Given the description of an element on the screen output the (x, y) to click on. 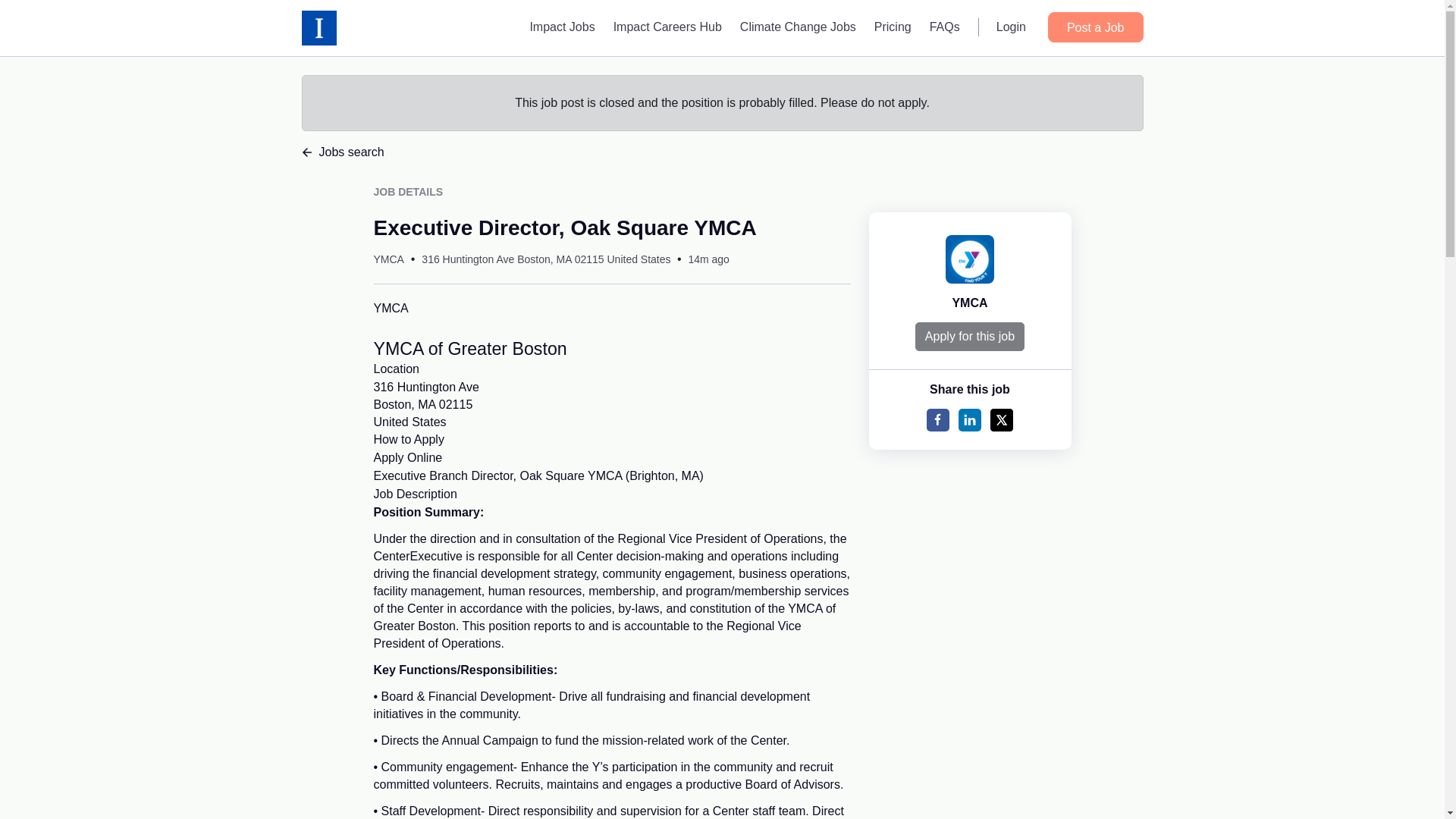
YMCA (387, 259)
Climate Change Jobs (797, 26)
YMCA (969, 302)
Share to Linkedin (969, 419)
Apply Online (425, 404)
YMCA of Greater Boston (407, 457)
Login (469, 348)
FAQs (1011, 26)
Apply for this job (944, 26)
